Given the description of an element on the screen output the (x, y) to click on. 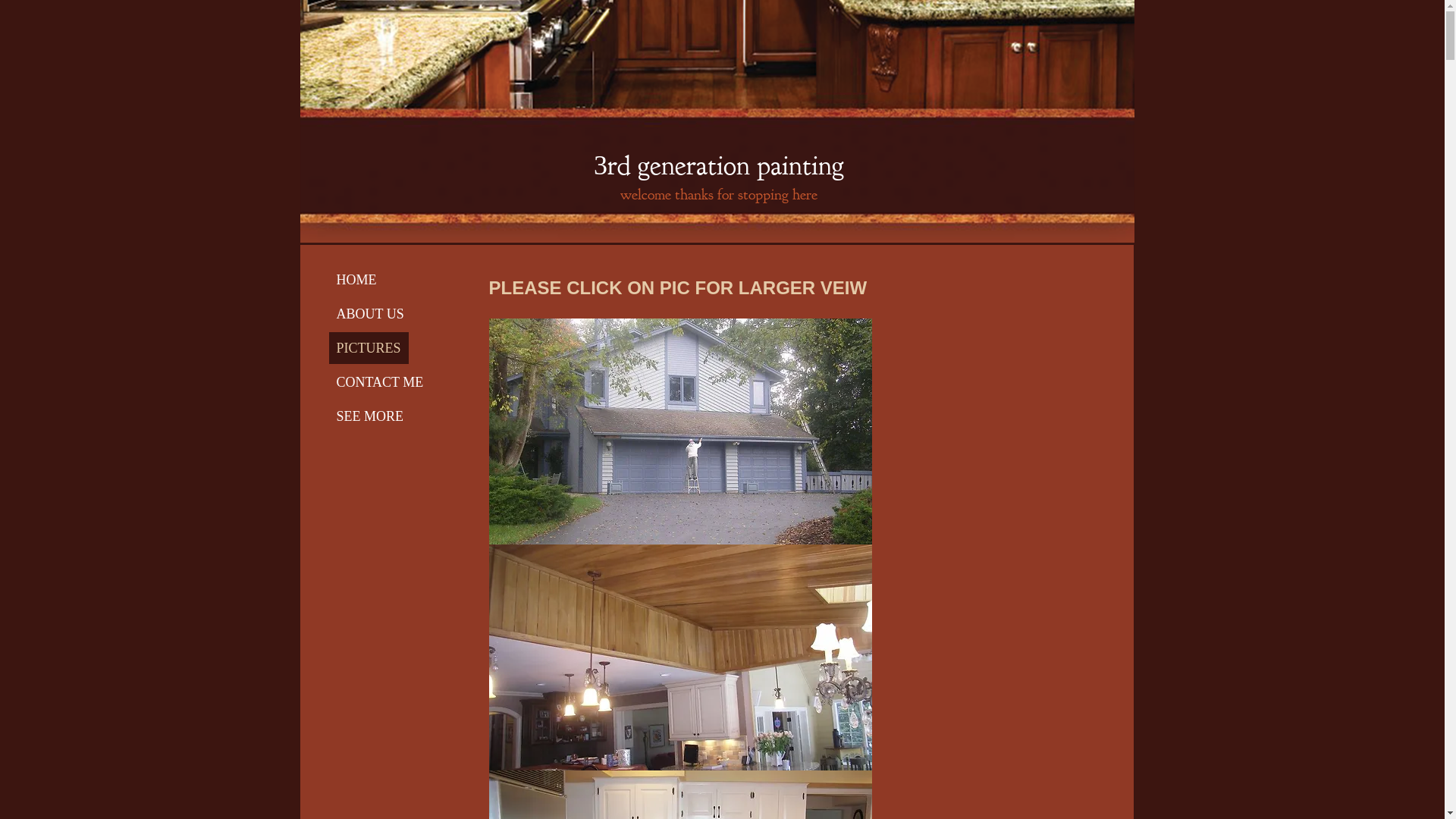
CONTACT ME Element type: text (380, 382)
PICTURES Element type: text (368, 348)
SEE MORE Element type: text (370, 416)
ABOUT US Element type: text (370, 313)
HOME Element type: text (356, 279)
